Given the description of an element on the screen output the (x, y) to click on. 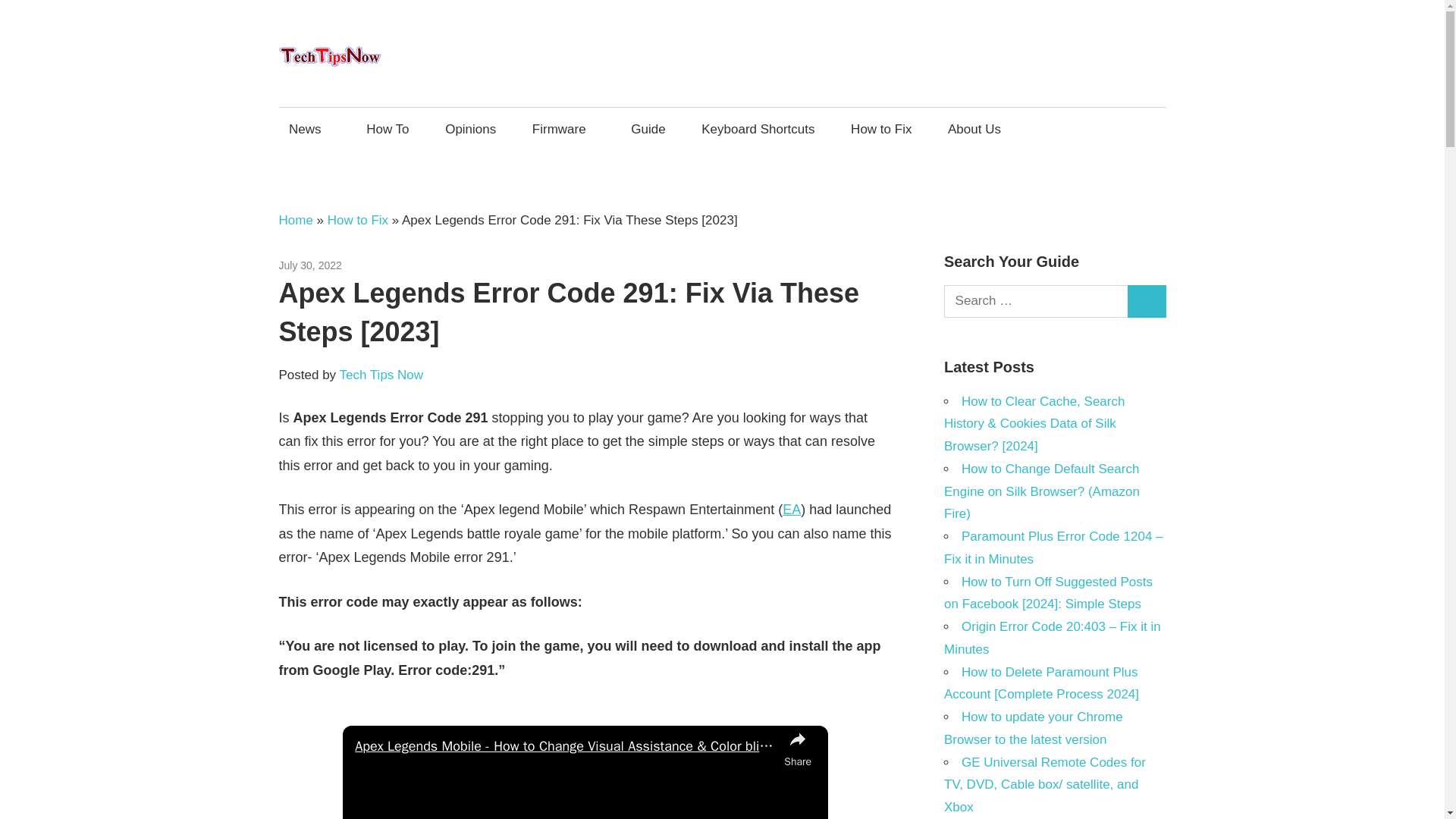
About Us (978, 128)
View all posts by Tech Tips Now (381, 374)
Keyboard Shortcuts (758, 128)
How to Fix (366, 265)
EA (791, 509)
News (309, 128)
Firmware (563, 128)
12:38 pm (310, 265)
Guide (649, 128)
July 30, 2022 (310, 265)
How to Fix (357, 219)
Opinions (470, 128)
Tech Tips Now (381, 374)
How To (388, 128)
Home (296, 219)
